Given the description of an element on the screen output the (x, y) to click on. 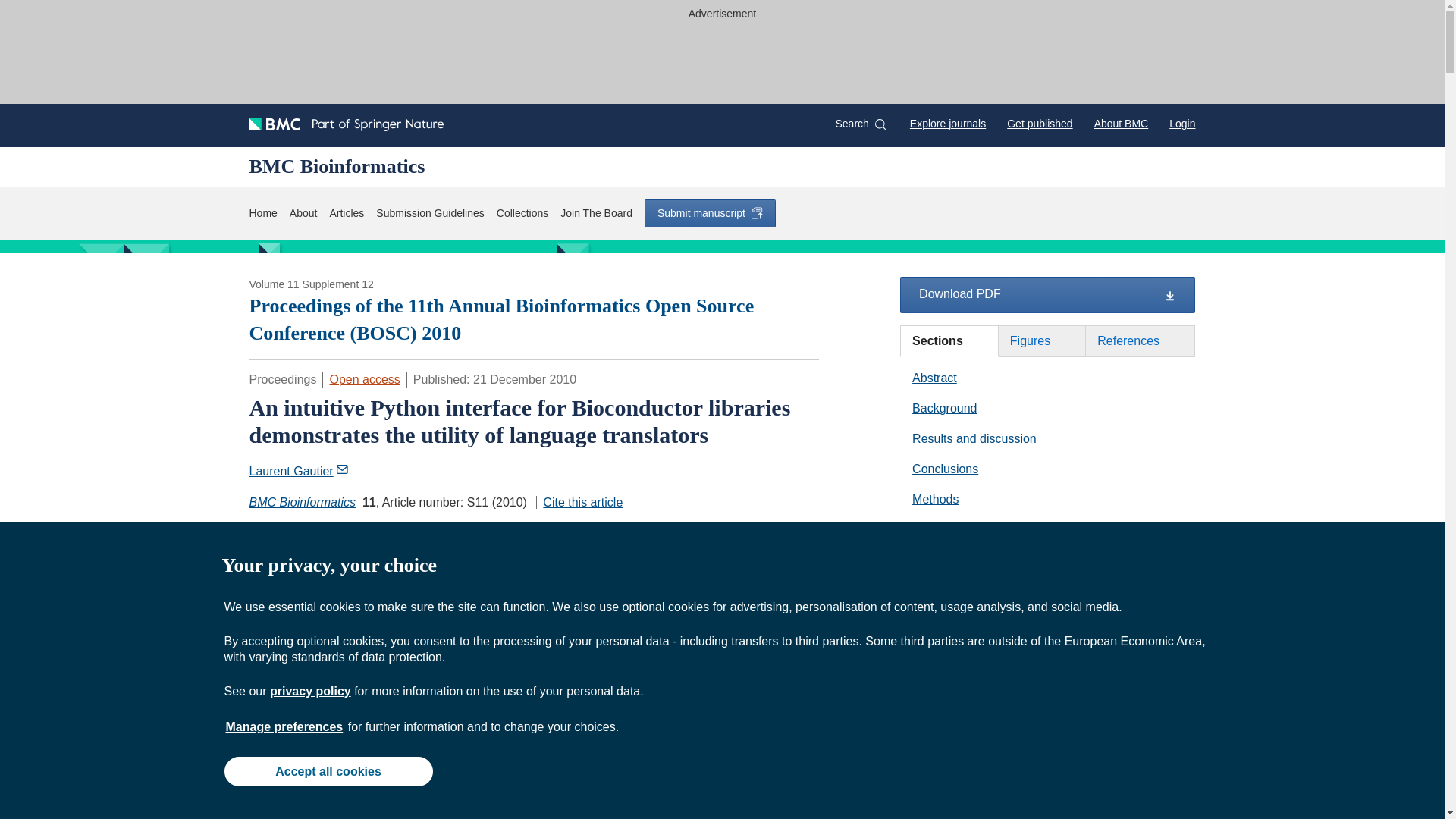
Home (262, 212)
Join The Board (595, 212)
Articles (346, 212)
Explore journals (947, 123)
Search (859, 123)
Cite this article (579, 502)
Submit manuscript (710, 212)
About BMC (1121, 123)
BMC Bioinformatics (301, 502)
Metrics (438, 530)
3rd party ad content (721, 59)
Login (1182, 123)
Laurent Gautier (297, 471)
Collections (522, 212)
Manage preferences (284, 726)
